Given the description of an element on the screen output the (x, y) to click on. 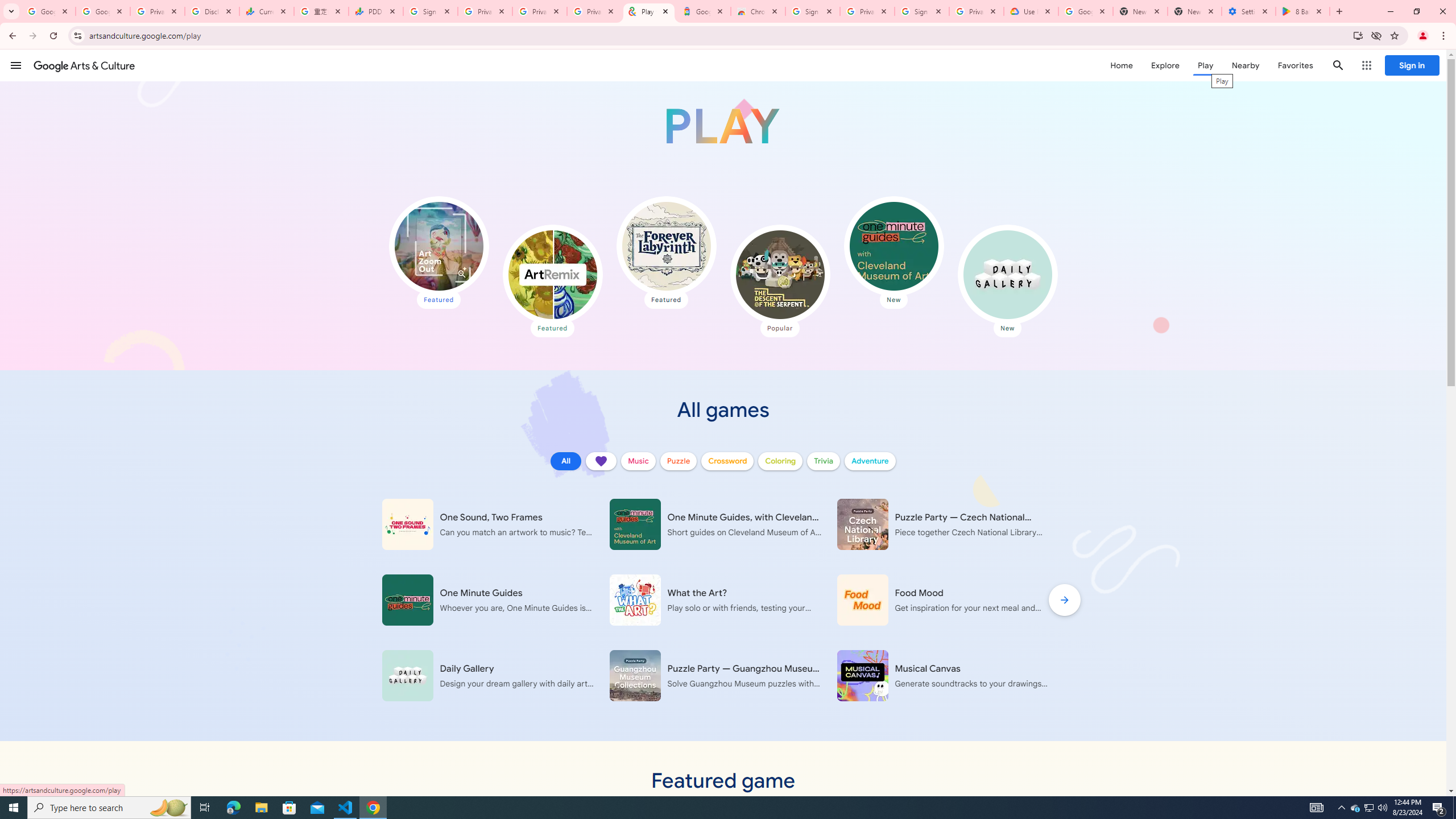
Favorites (1295, 65)
Play with Google Arts & Culture (722, 126)
Chrome Web Store - Color themes by Chrome (757, 11)
PDD Holdings Inc - ADR (PDD) Price & News - Google Finance (375, 11)
Settings - System (1249, 11)
Google (703, 11)
Sign in - Google Accounts (430, 11)
